Given the description of an element on the screen output the (x, y) to click on. 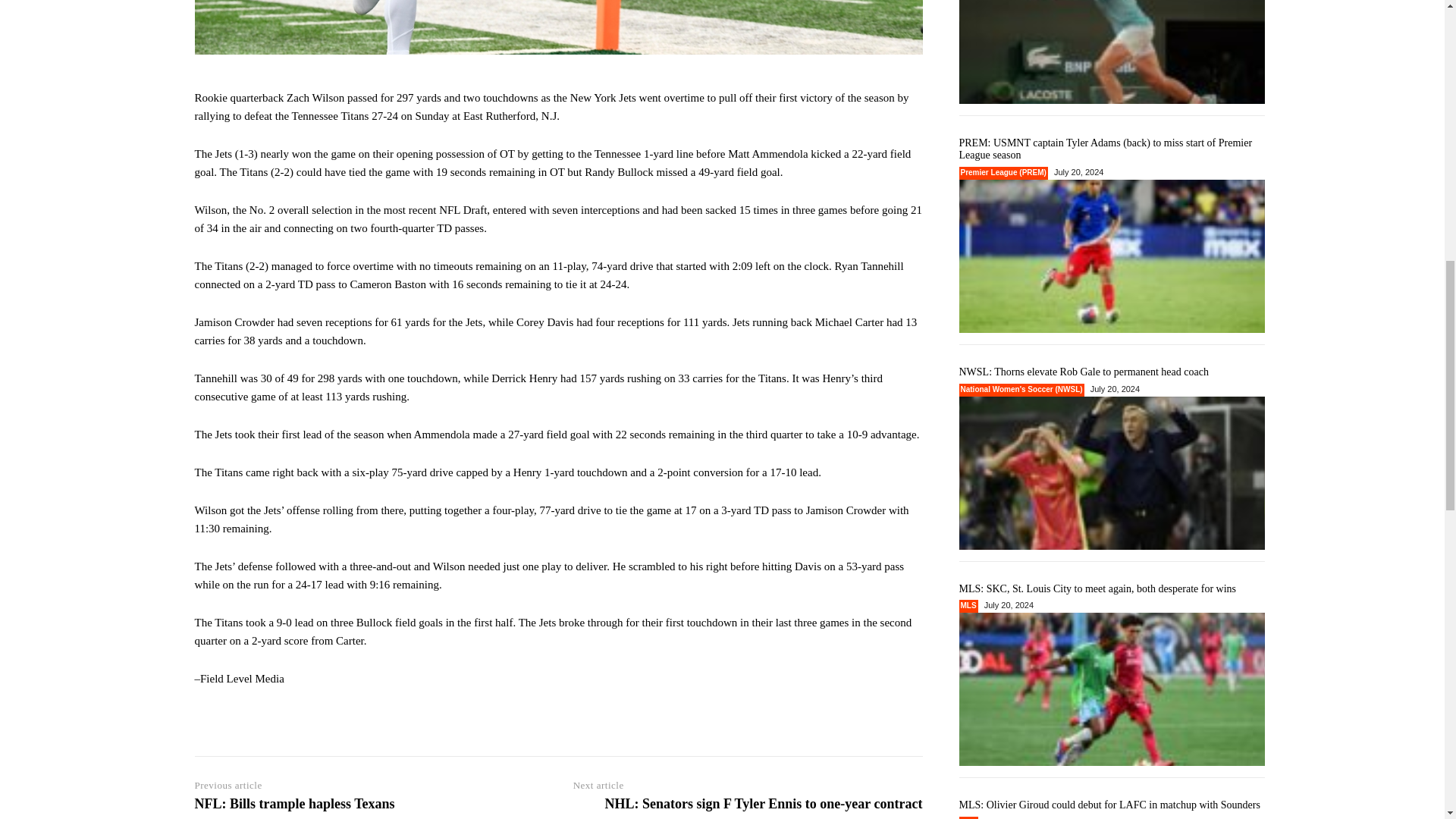
ATP: Rafael Nadal reaches first final since 2022 (1111, 52)
NWSL: Thorns elevate Rob Gale to permanent head coach (1083, 371)
NWSL: Thorns elevate Rob Gale to permanent head coach (1111, 472)
